Given the description of an element on the screen output the (x, y) to click on. 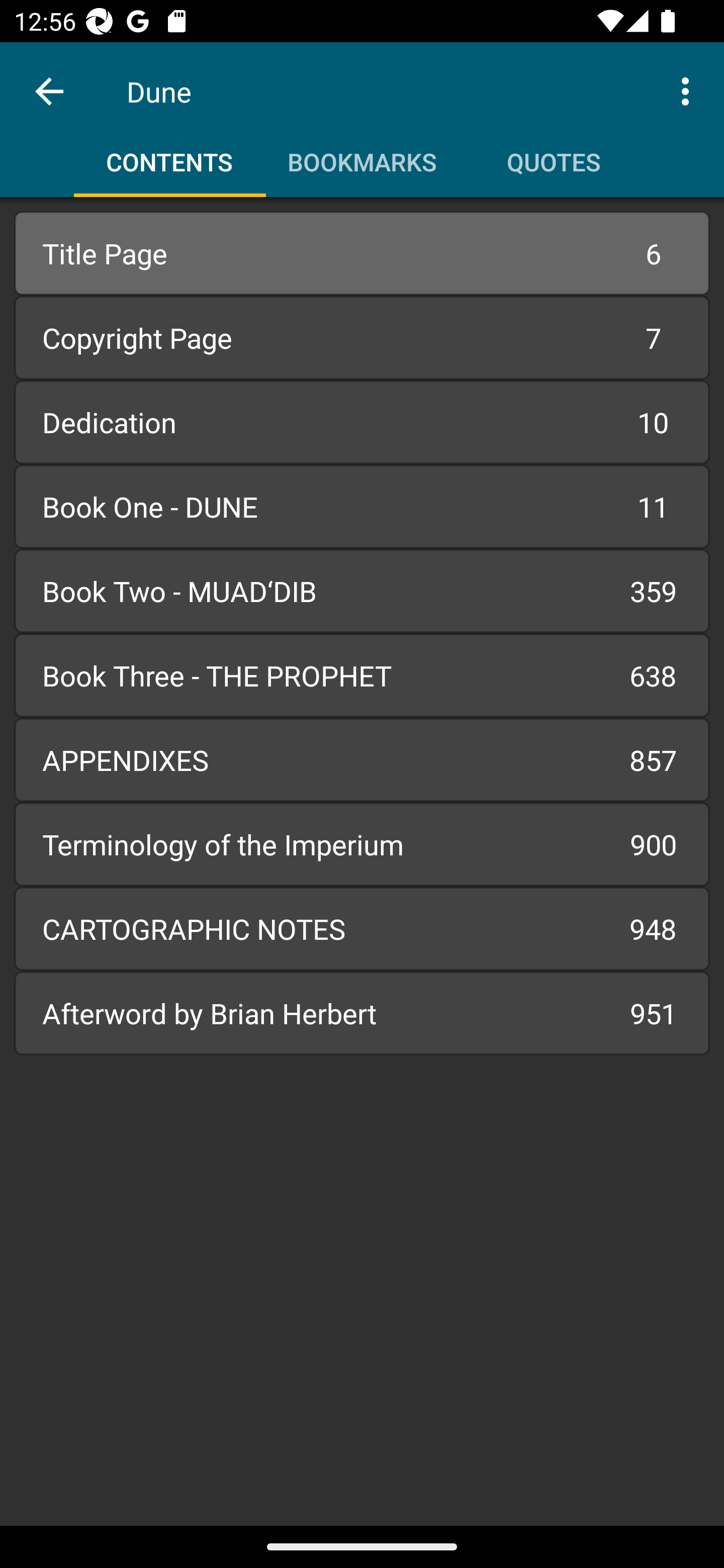
Back (49, 91)
More options (688, 90)
Bookmarks BOOKMARKS (361, 154)
Quotes QUOTES (554, 154)
Title Page 6 (361, 252)
Copyright Page 7 (361, 336)
Dedication 10 (361, 421)
Book One - DUNE 11 (361, 506)
Book Two - MUAD‘DIB 359 (361, 590)
Book Three - THE PROPHET 638 (361, 675)
APPENDIXES 857 (361, 760)
Terminology of the Imperium 900 (361, 843)
CARTOGRAPHIC NOTES 948 (361, 927)
Afterword by Brian Herbert 951 (361, 1012)
